Given the description of an element on the screen output the (x, y) to click on. 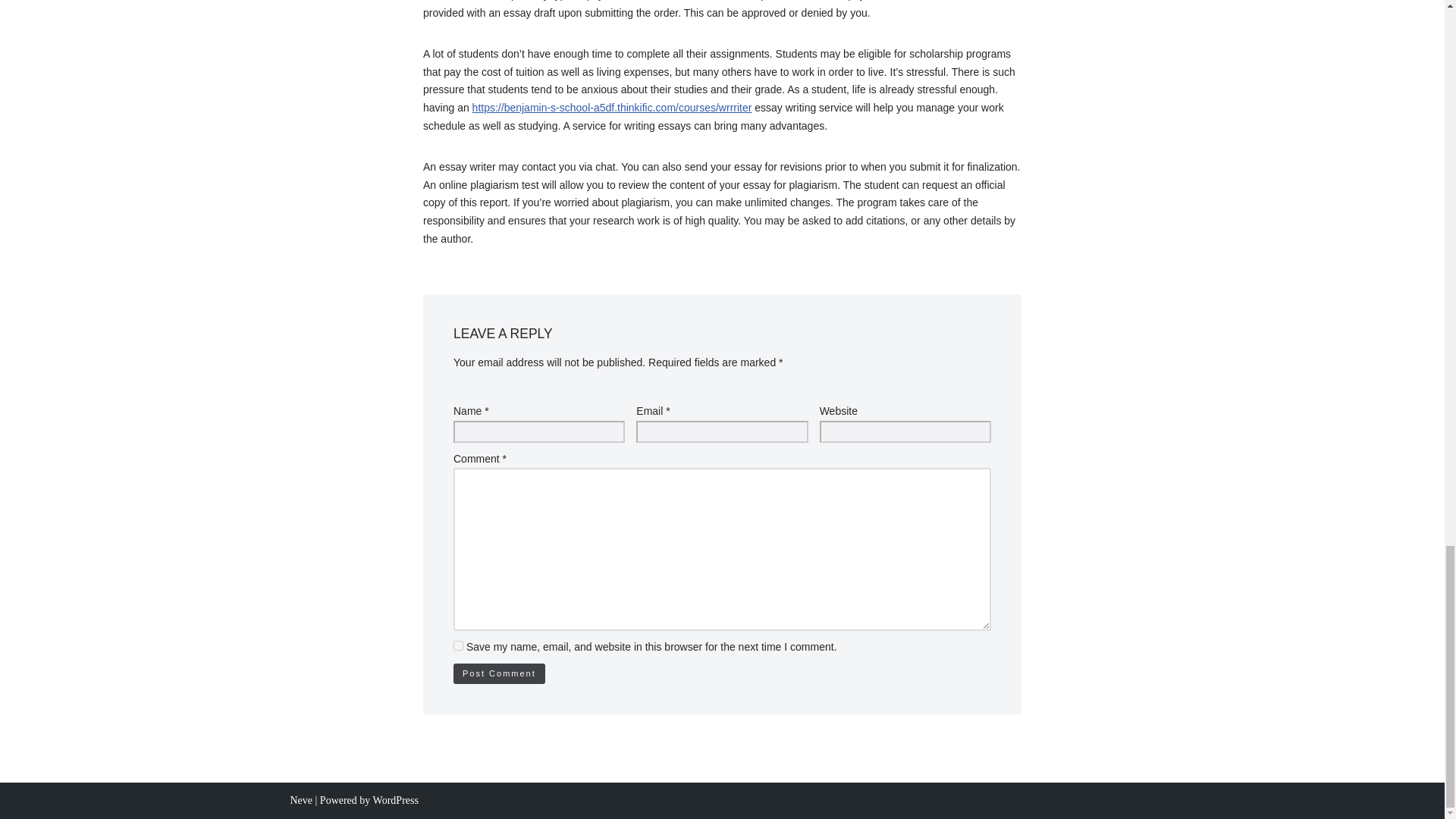
WordPress (395, 799)
Post Comment (498, 673)
Post Comment (498, 673)
yes (457, 645)
Neve (301, 799)
